Given the description of an element on the screen output the (x, y) to click on. 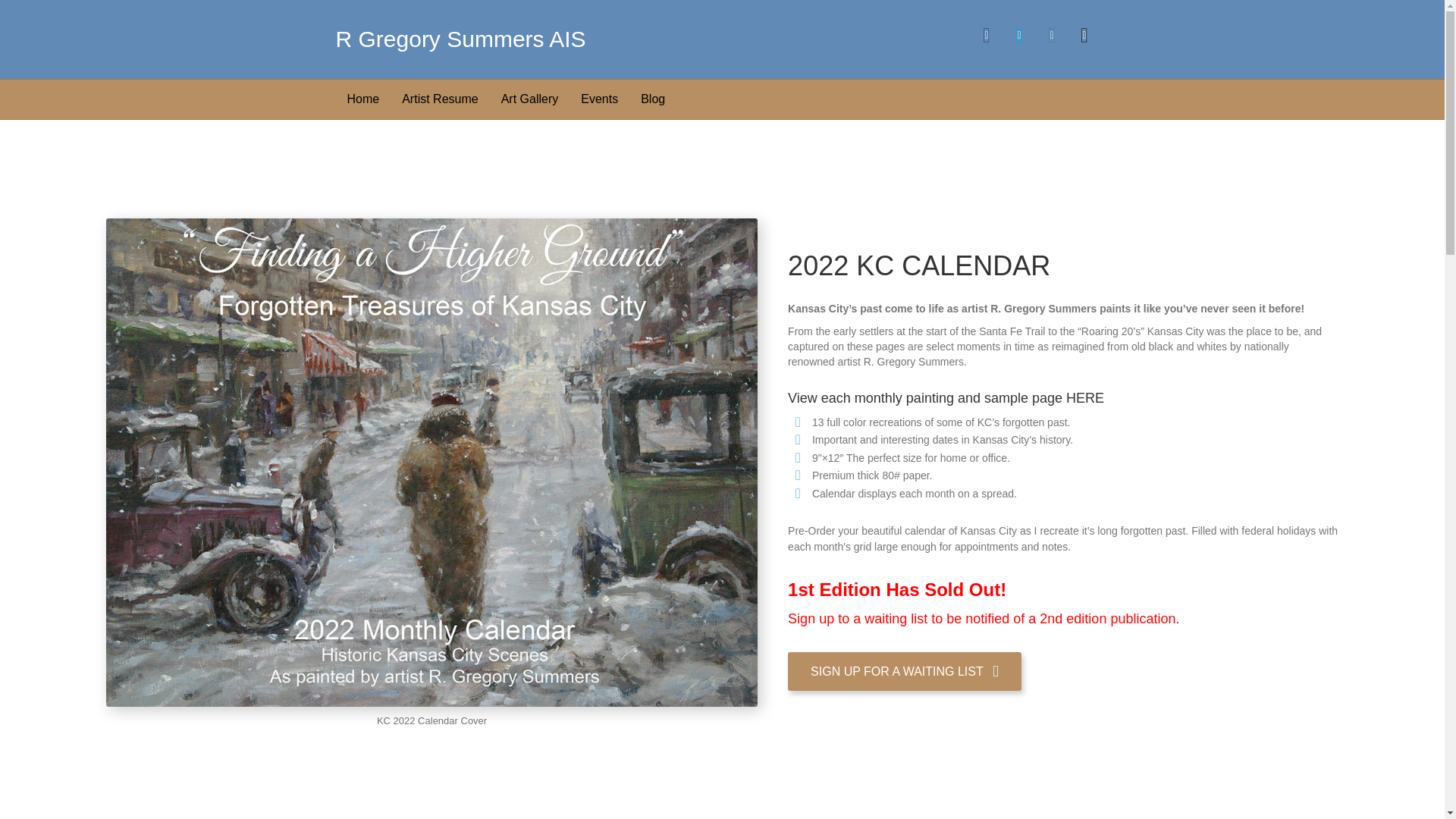
R Gregory Summers AIS (516, 39)
Artist Resume (439, 97)
Blog (652, 97)
SIGN UP FOR A WAITING LIST (904, 671)
Home (362, 97)
Instagram (1052, 35)
Twitter (1019, 35)
Art Gallery (529, 97)
Events (598, 97)
Facebook (987, 35)
Email (1083, 35)
